Given the description of an element on the screen output the (x, y) to click on. 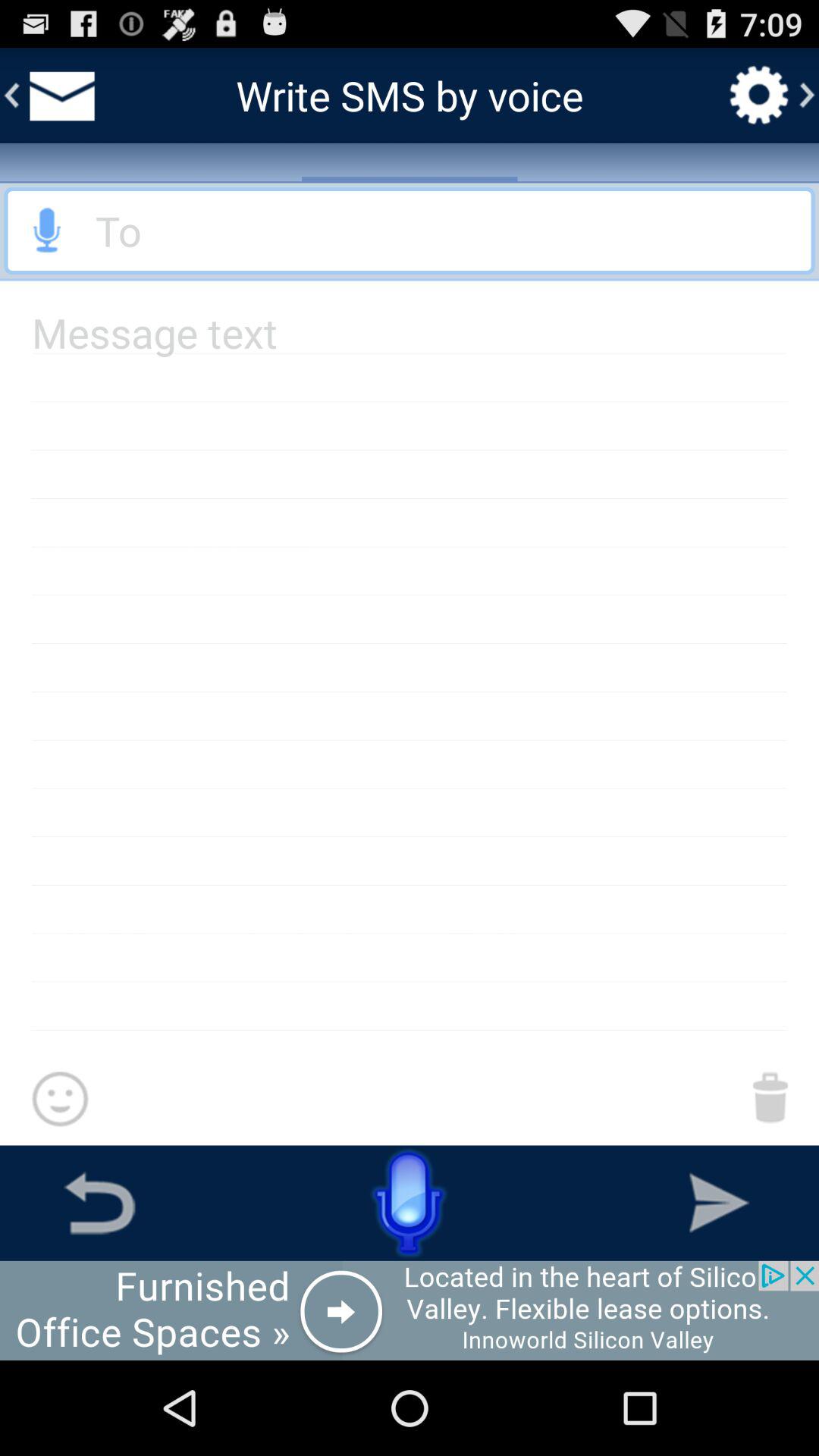
send audio (47, 230)
